Given the description of an element on the screen output the (x, y) to click on. 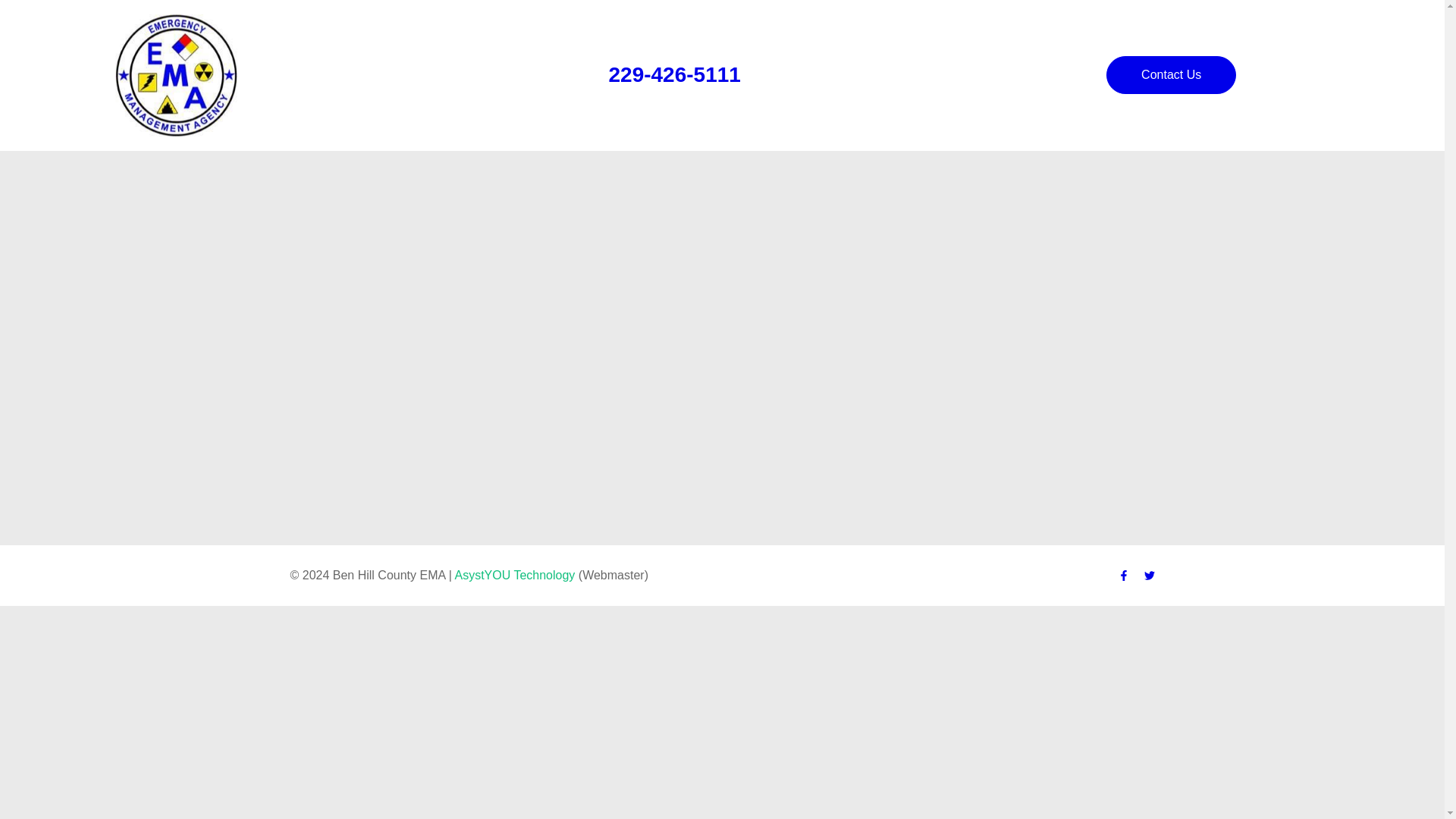
AsystYOU Technology (514, 574)
AsystYOU Technology (514, 574)
Contact Us (1171, 75)
